Given the description of an element on the screen output the (x, y) to click on. 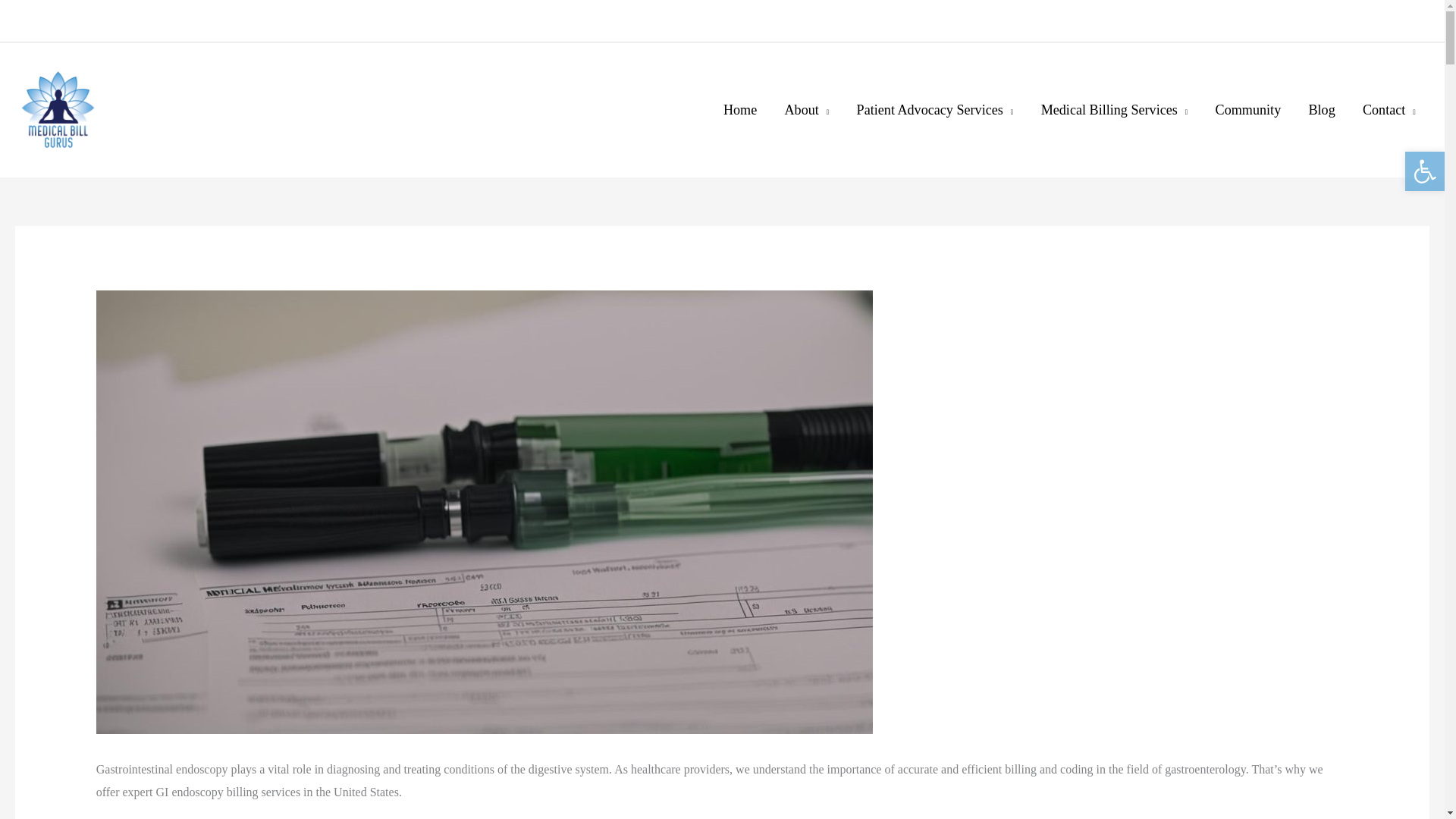
Home (740, 110)
About (806, 110)
Blog (1321, 110)
Contact (1389, 110)
Community (1247, 110)
Medical Billing Services (1113, 110)
Patient Advocacy Services (934, 110)
Accessibility Tools (1424, 170)
